Given the description of an element on the screen output the (x, y) to click on. 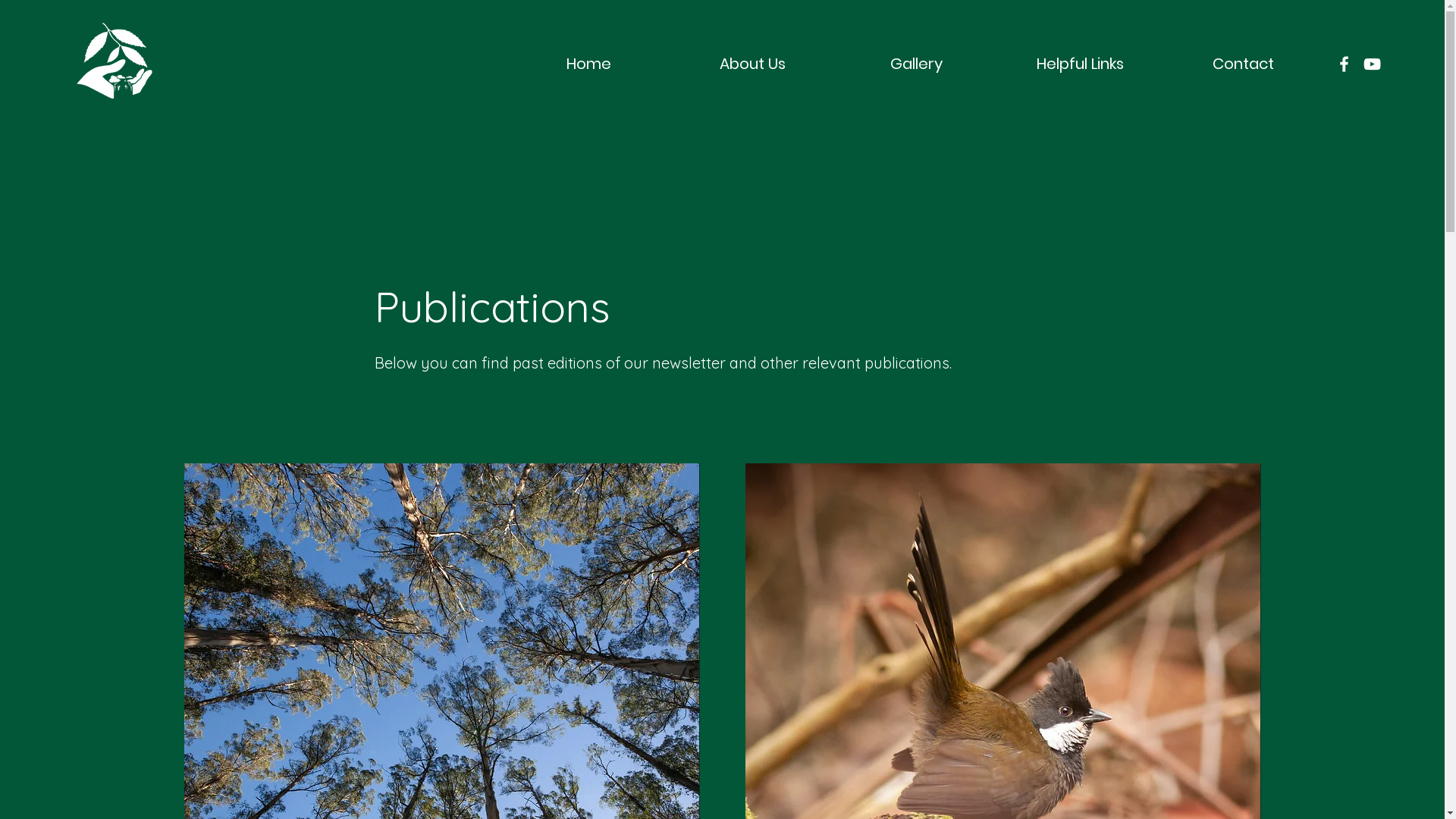
About Us Element type: text (752, 63)
Contact Element type: text (1242, 63)
Helpful Links Element type: text (1079, 63)
Home Element type: text (588, 63)
Gallery Element type: text (915, 63)
